Given the description of an element on the screen output the (x, y) to click on. 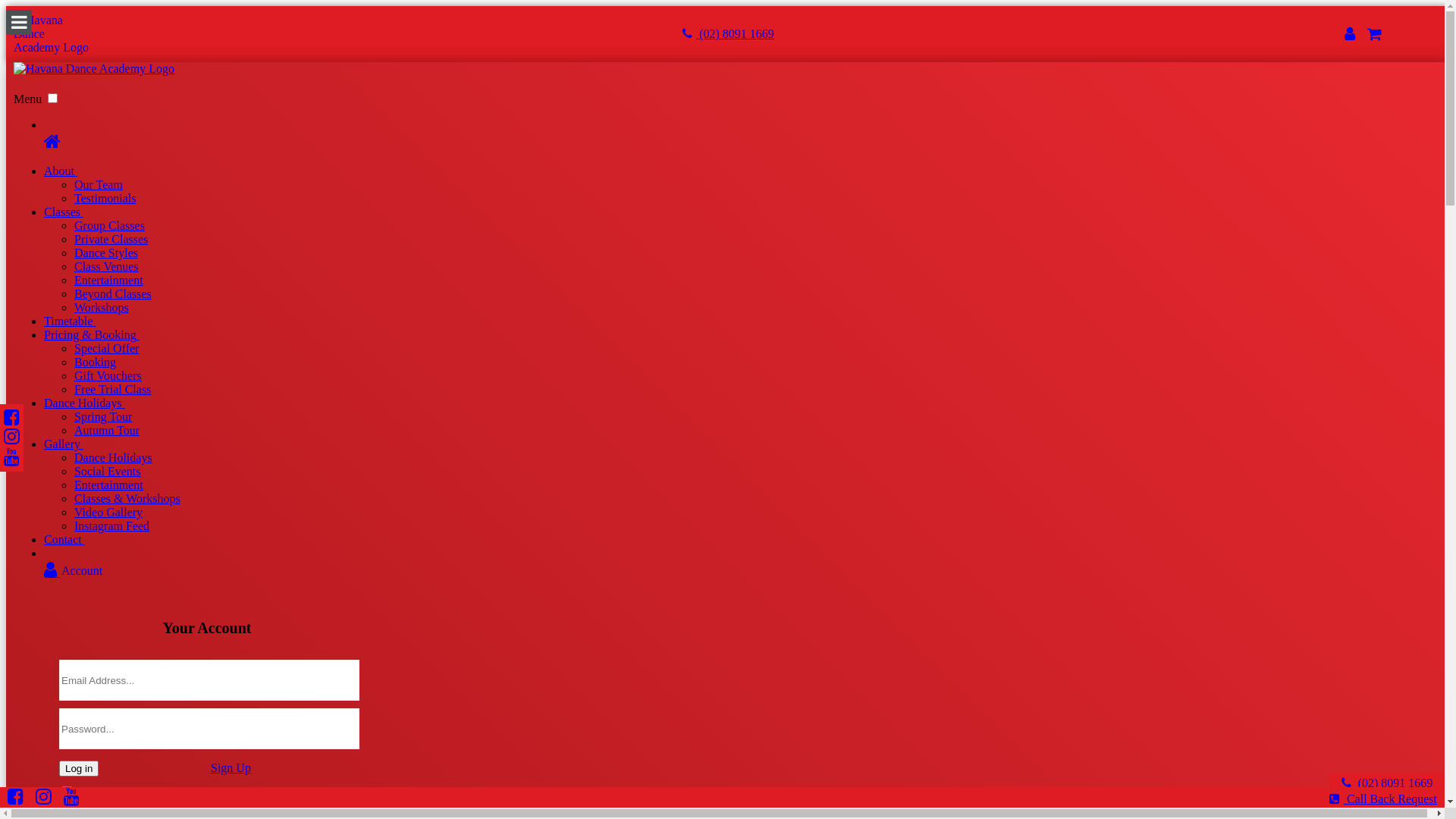
Gift Vouchers Element type: text (107, 375)
Booking Element type: text (95, 361)
Account Element type: text (743, 569)
Entertainment Element type: text (108, 484)
Forgot Password? Element type: text (254, 791)
Call Back Request Element type: text (1386, 796)
Dance Styles Element type: text (106, 252)
About  Element type: text (60, 170)
Private Classes Element type: text (110, 238)
Workshops Element type: text (101, 307)
Classes & Workshops Element type: text (127, 498)
Testimonials Element type: text (105, 197)
Beyond Classes Element type: text (112, 293)
Free Trial Class Element type: text (112, 388)
Contact  Element type: text (63, 539)
Timetable  Element type: text (69, 320)
Class Venues Element type: text (106, 266)
Home Element type: hover (743, 140)
Log in Element type: text (78, 768)
Call Back Request Element type: text (1383, 798)
Social Events Element type: text (107, 470)
Video Gallery Element type: text (108, 511)
Sign Up Element type: text (230, 767)
Dance Holidays Element type: text (113, 457)
Instagram Feed Element type: text (111, 525)
Our Team Element type: text (98, 184)
Group Classes Element type: text (109, 225)
Autumn Tour Element type: text (106, 429)
Special Offer Element type: text (106, 348)
Classes  Element type: text (63, 211)
(02) 8091 1669 Element type: text (1387, 782)
Dance Holidays  Element type: text (84, 402)
Entertainment Element type: text (108, 279)
Gallery  Element type: text (63, 443)
(02) 8091 1669 Element type: text (728, 33)
Pricing & Booking  Element type: text (91, 334)
Spring Tour Element type: text (102, 416)
